Given the description of an element on the screen output the (x, y) to click on. 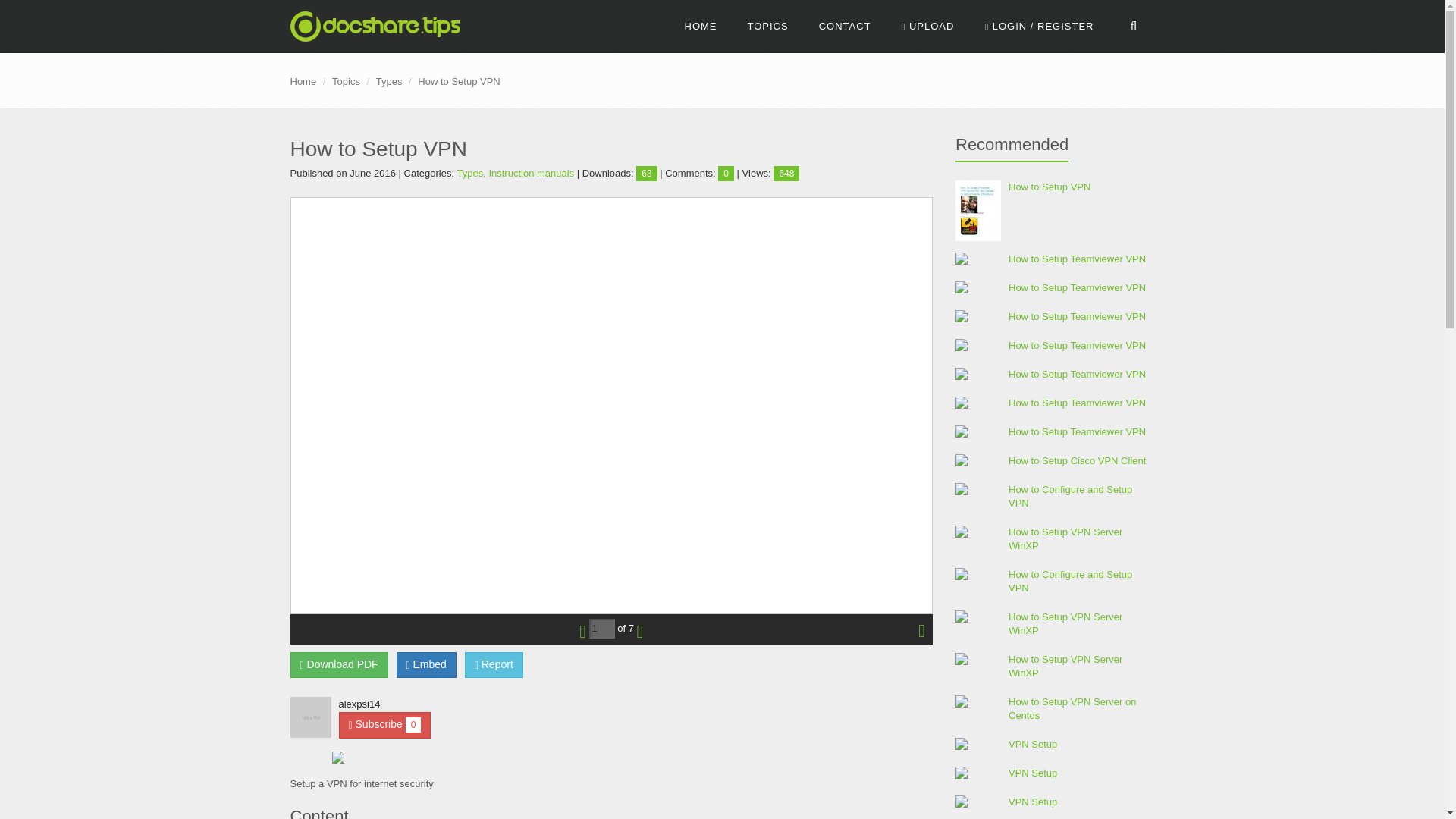
Share (426, 664)
1 (601, 629)
HOME (700, 26)
TOPICS (767, 26)
